Given the description of an element on the screen output the (x, y) to click on. 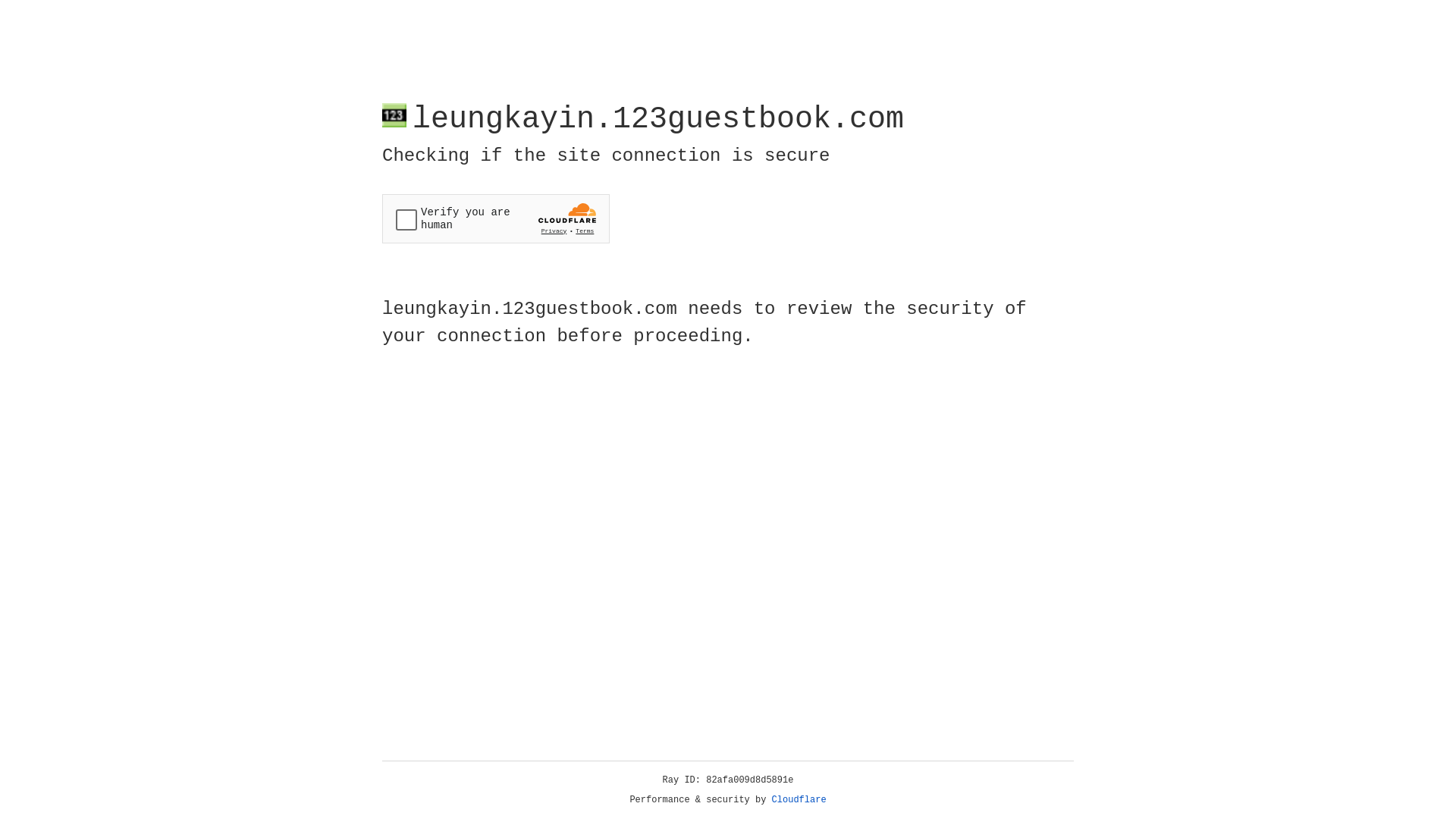
Widget containing a Cloudflare security challenge Element type: hover (495, 218)
Cloudflare Element type: text (798, 799)
